Given the description of an element on the screen output the (x, y) to click on. 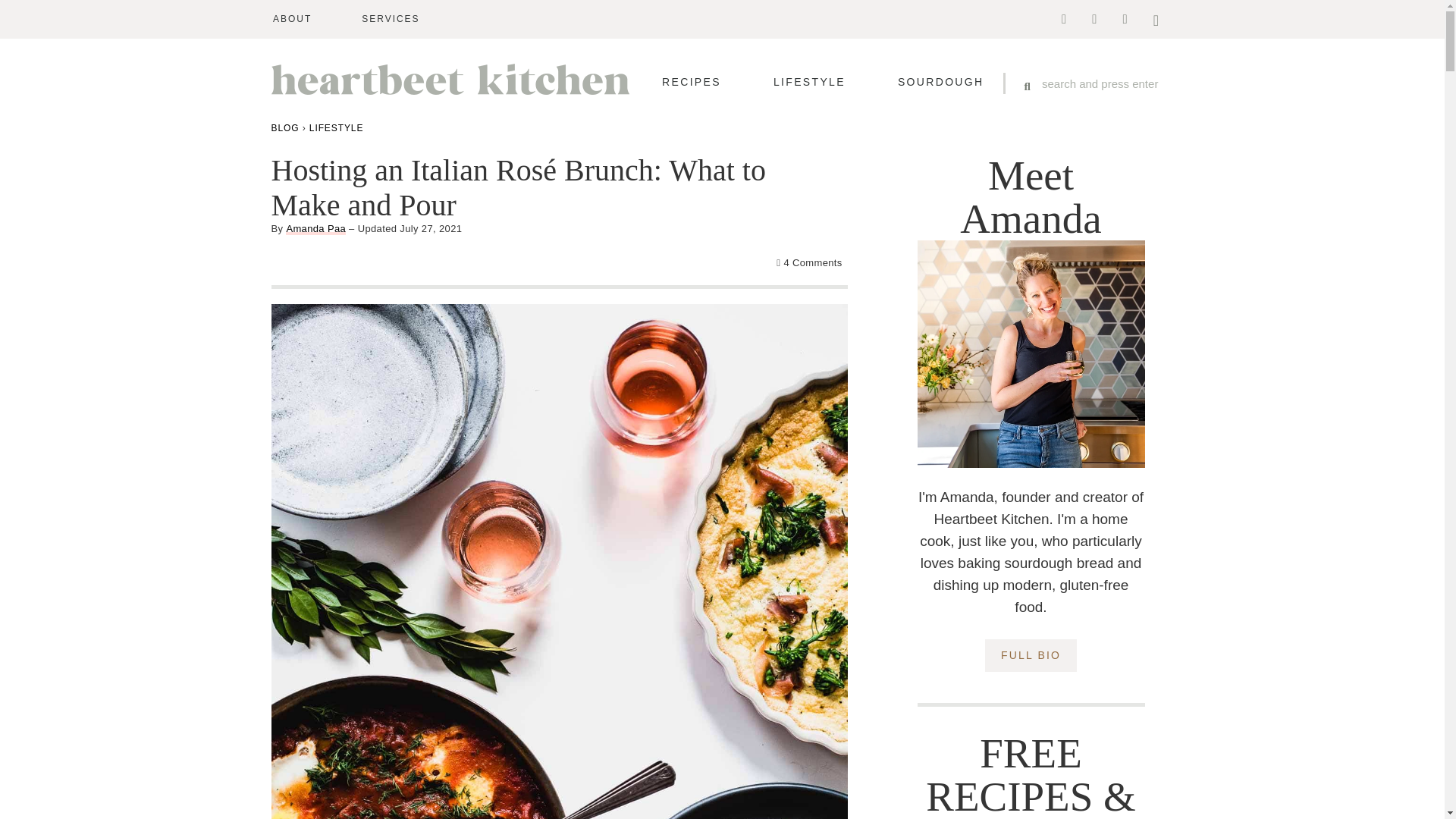
RECIPES (691, 81)
SOURDOUGH (941, 81)
LIFESTYLE (809, 81)
SERVICES (390, 18)
ABOUT (292, 18)
